Given the description of an element on the screen output the (x, y) to click on. 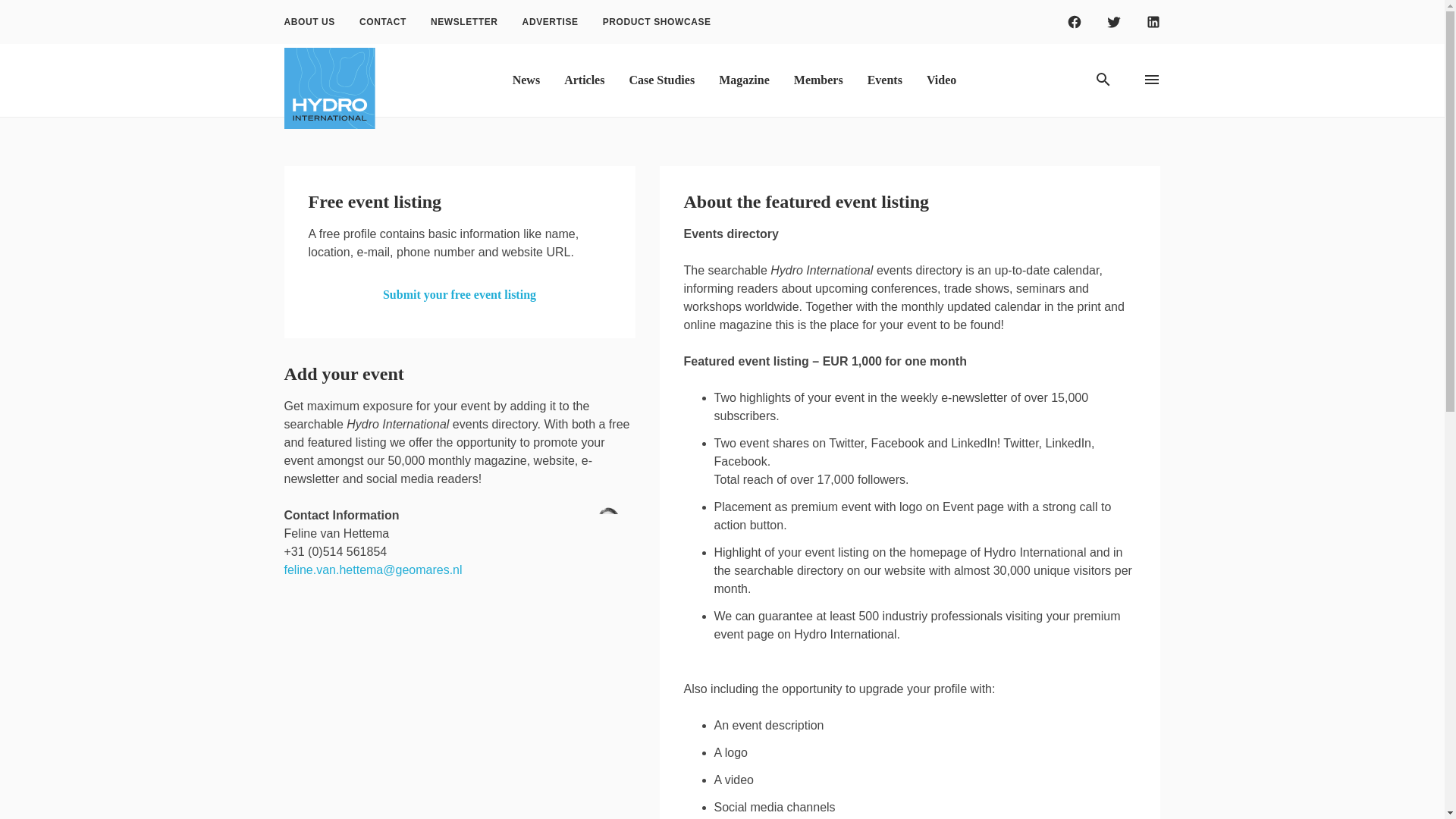
Members (818, 80)
NEWSLETTER (465, 22)
Submit your free event listing (459, 295)
Case Studies (660, 80)
Mail to Feline van Hettema (372, 569)
ABOUT US (308, 22)
ADVERTISE (551, 22)
CONTACT (383, 22)
Magazine (743, 80)
PRODUCT SHOWCASE (657, 22)
